Given the description of an element on the screen output the (x, y) to click on. 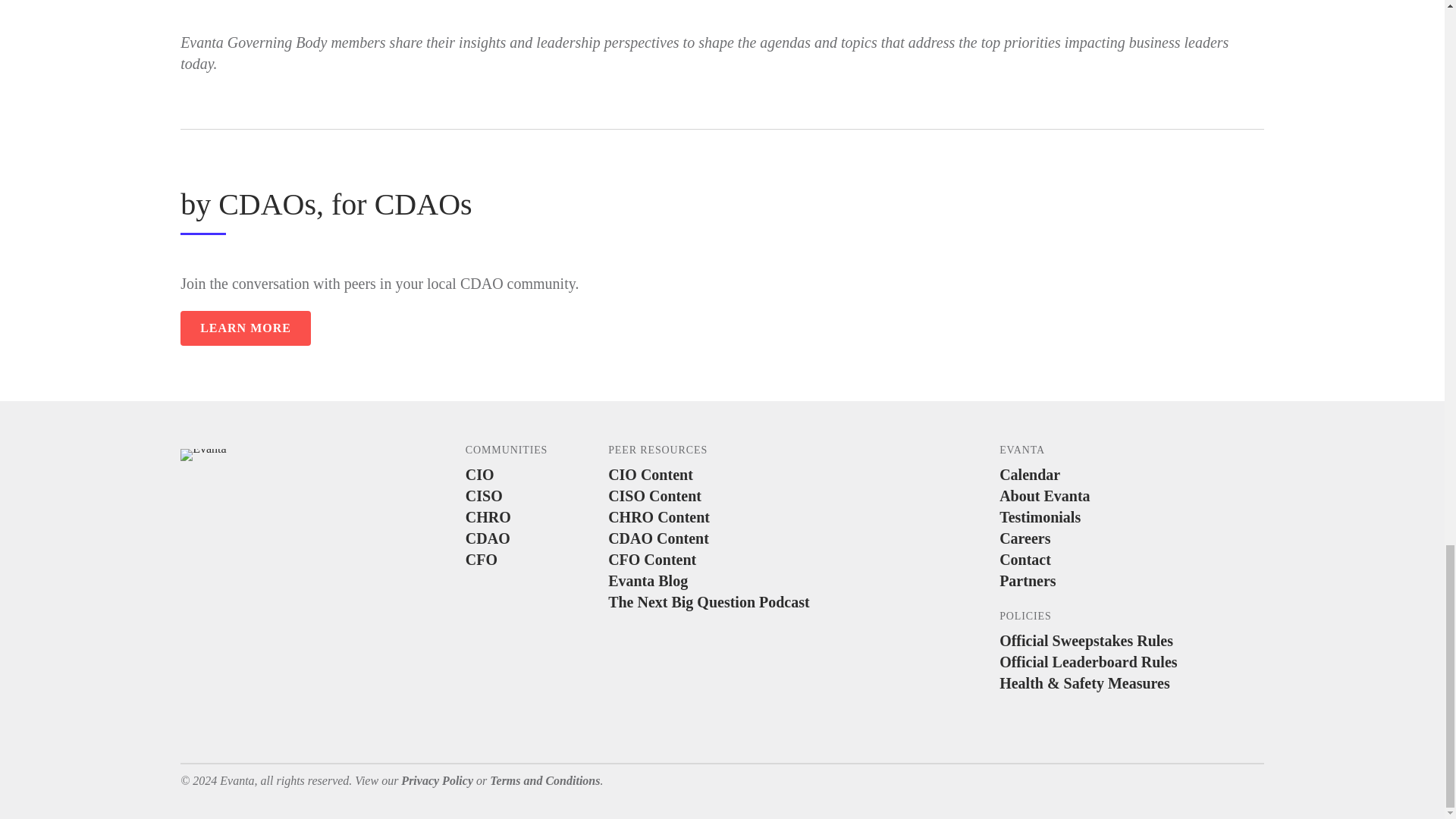
CIO (535, 474)
CISO Content (732, 495)
LEARN MORE (245, 328)
Evanta Blog (732, 580)
CISO (535, 495)
CHRO (535, 516)
CFO Content (732, 559)
CDAO Content (732, 537)
CHRO Content (732, 516)
CFO (535, 559)
